Given the description of an element on the screen output the (x, y) to click on. 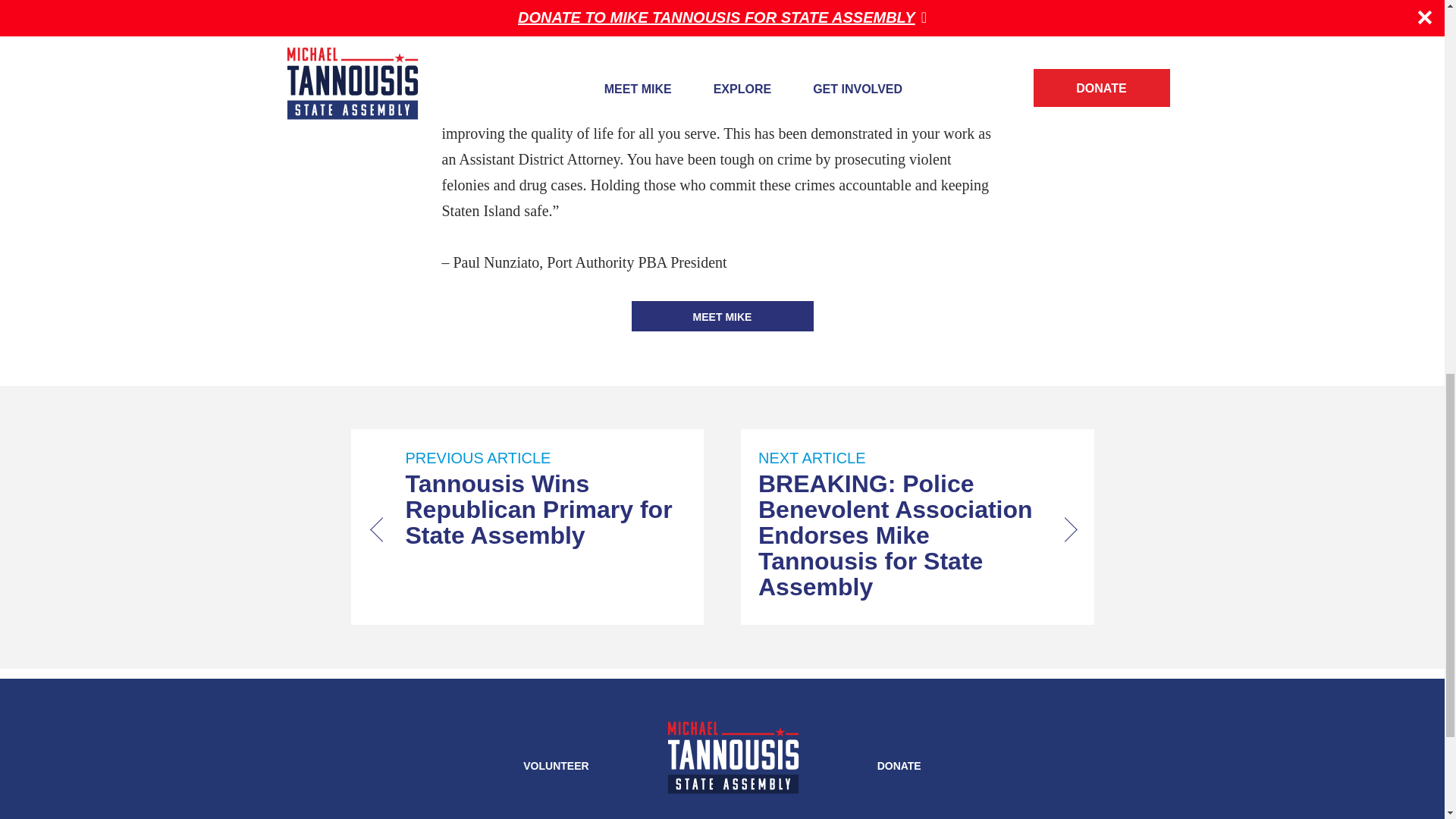
MEET MIKE (721, 316)
DONATE (899, 766)
VOLUNTEER (555, 766)
